Given the description of an element on the screen output the (x, y) to click on. 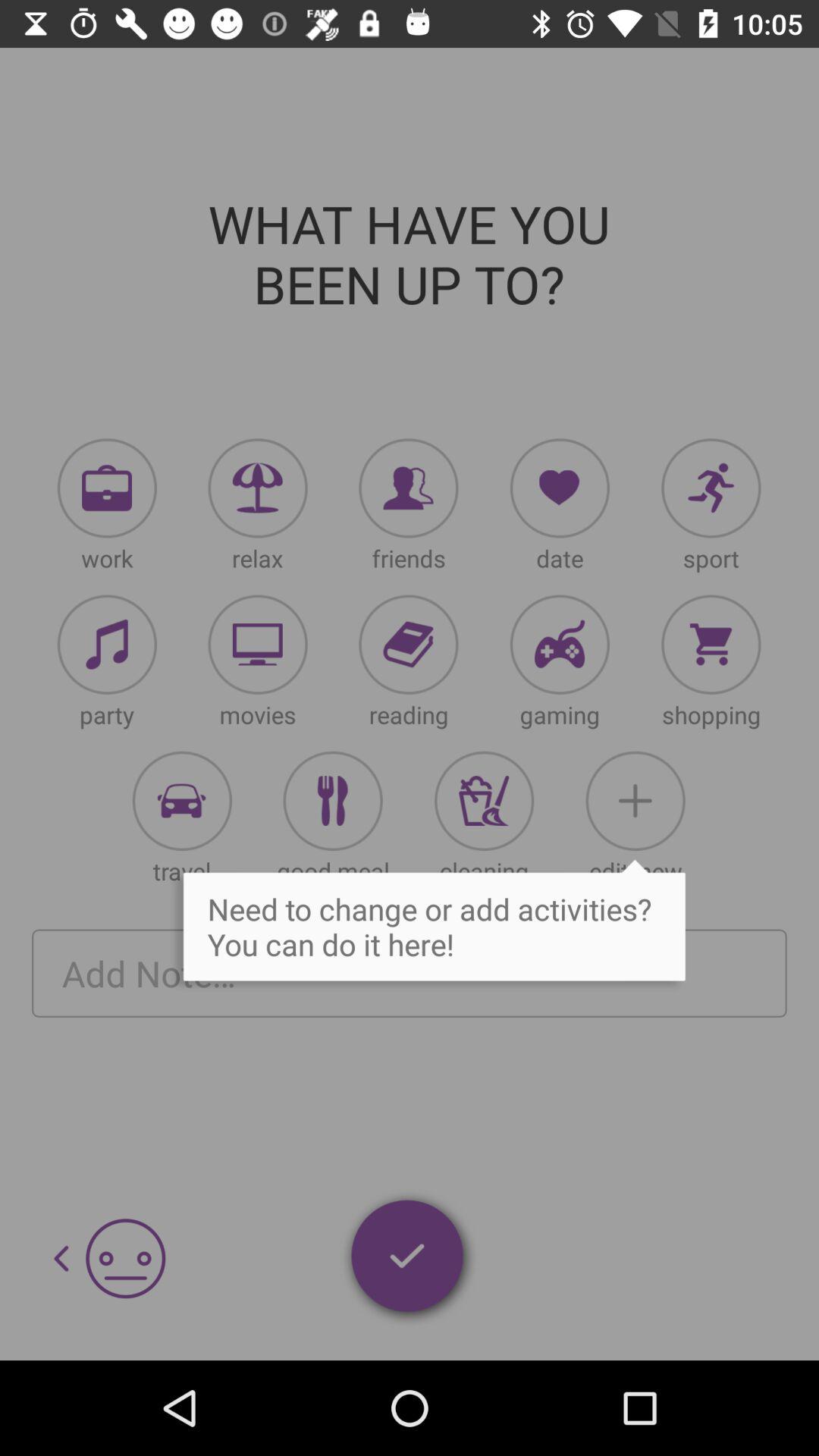
work button (106, 488)
